Given the description of an element on the screen output the (x, y) to click on. 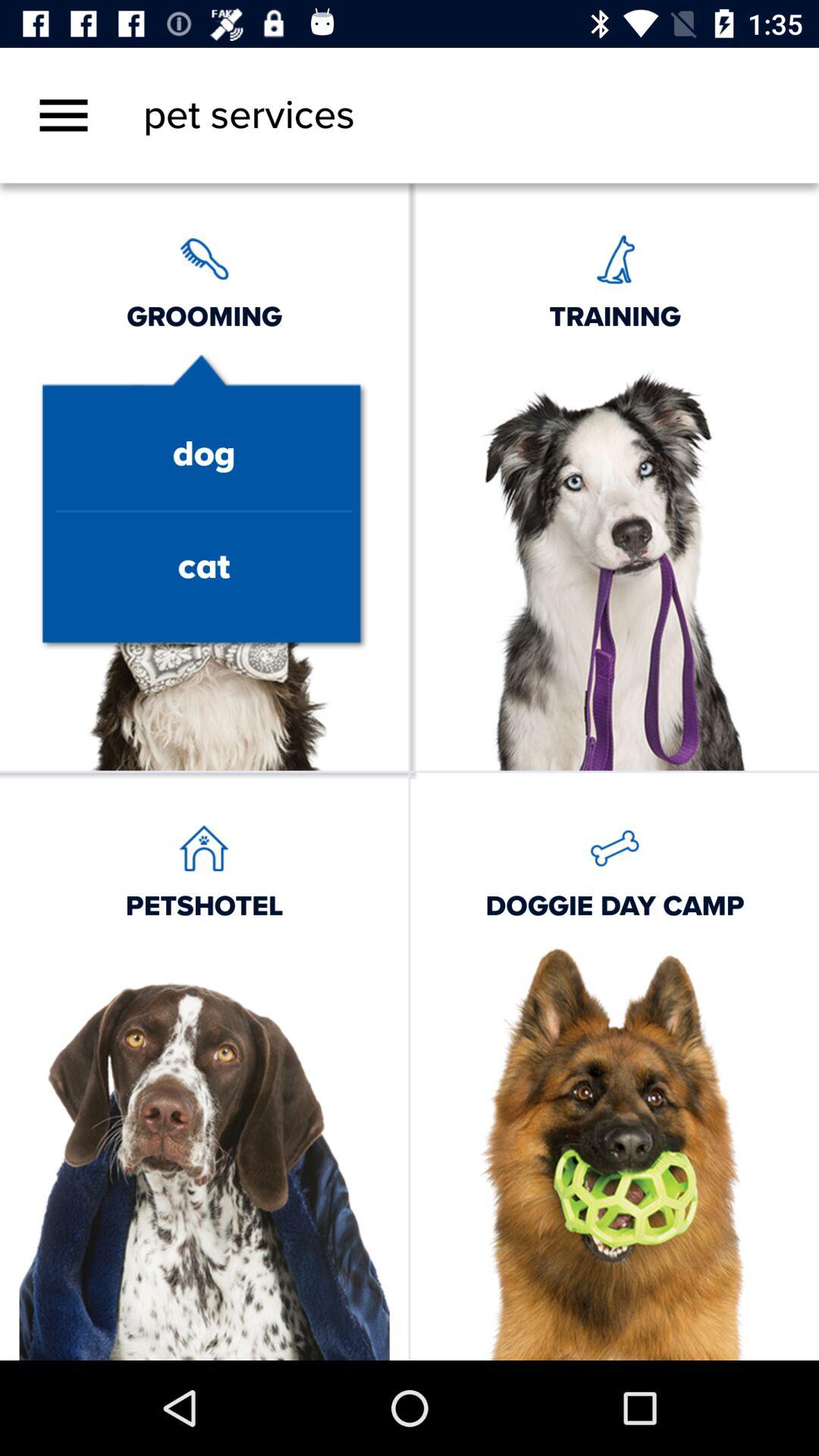
turn off item next to the pet services item (63, 115)
